Given the description of an element on the screen output the (x, y) to click on. 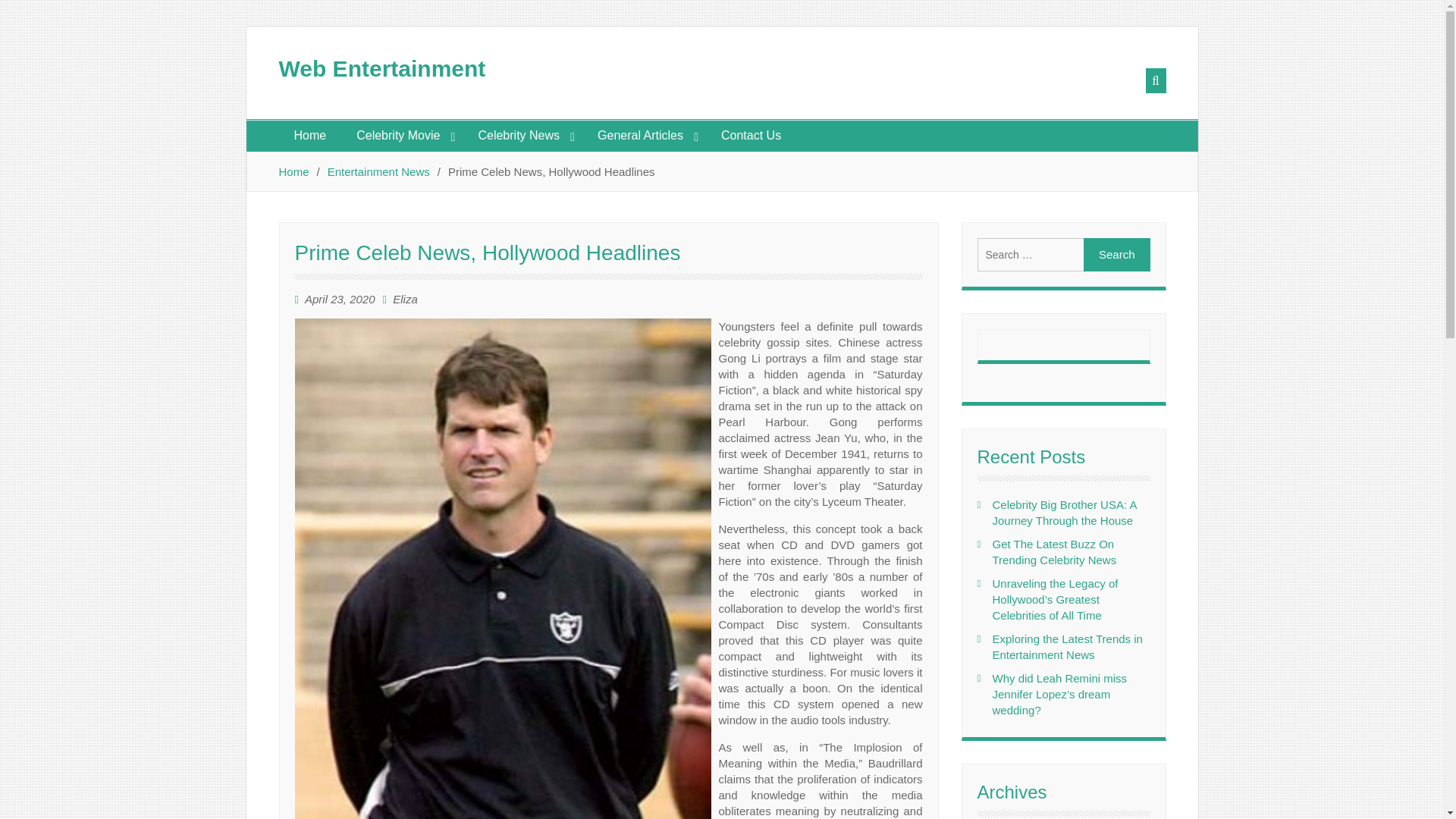
Celebrity Movie (401, 135)
General Articles (644, 135)
Contact Us (751, 135)
Home (310, 135)
Search (1116, 254)
Search (1116, 254)
Home (293, 171)
Web Entertainment (382, 68)
Celebrity News (522, 135)
